Given the description of an element on the screen output the (x, y) to click on. 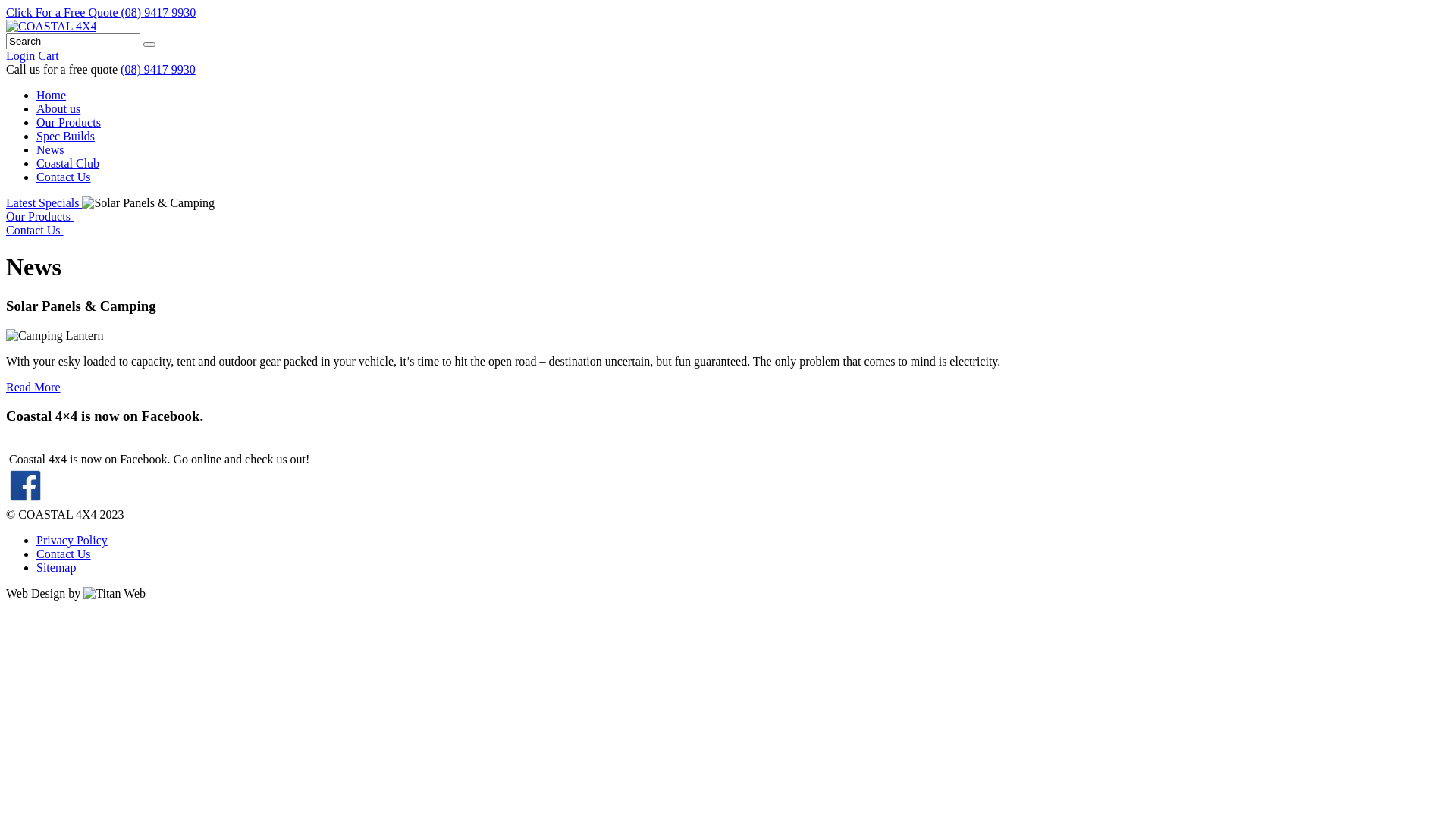
Contact Us Element type: text (34, 229)
Coastal Club Element type: text (67, 162)
Read More Element type: text (33, 386)
(08) 9417 9930 Element type: text (157, 68)
Login Element type: text (20, 55)
Contact Us Element type: text (63, 176)
Sitemap Element type: text (55, 567)
Privacy Policy Element type: text (71, 539)
Cart Element type: text (48, 55)
Click For a Free Quote (08) 9417 9930 Element type: text (100, 12)
Contact Us Element type: text (63, 553)
Latest Specials Element type: text (43, 202)
About us Element type: text (58, 108)
Spec Builds Element type: text (65, 135)
Home Element type: text (50, 94)
News Element type: text (49, 149)
Titan Web Element type: hover (114, 593)
Our Products Element type: text (39, 216)
Camping Lantern Element type: hover (54, 335)
Our Products Element type: text (68, 122)
COASTAL 4X4 Element type: hover (51, 25)
